Given the description of an element on the screen output the (x, y) to click on. 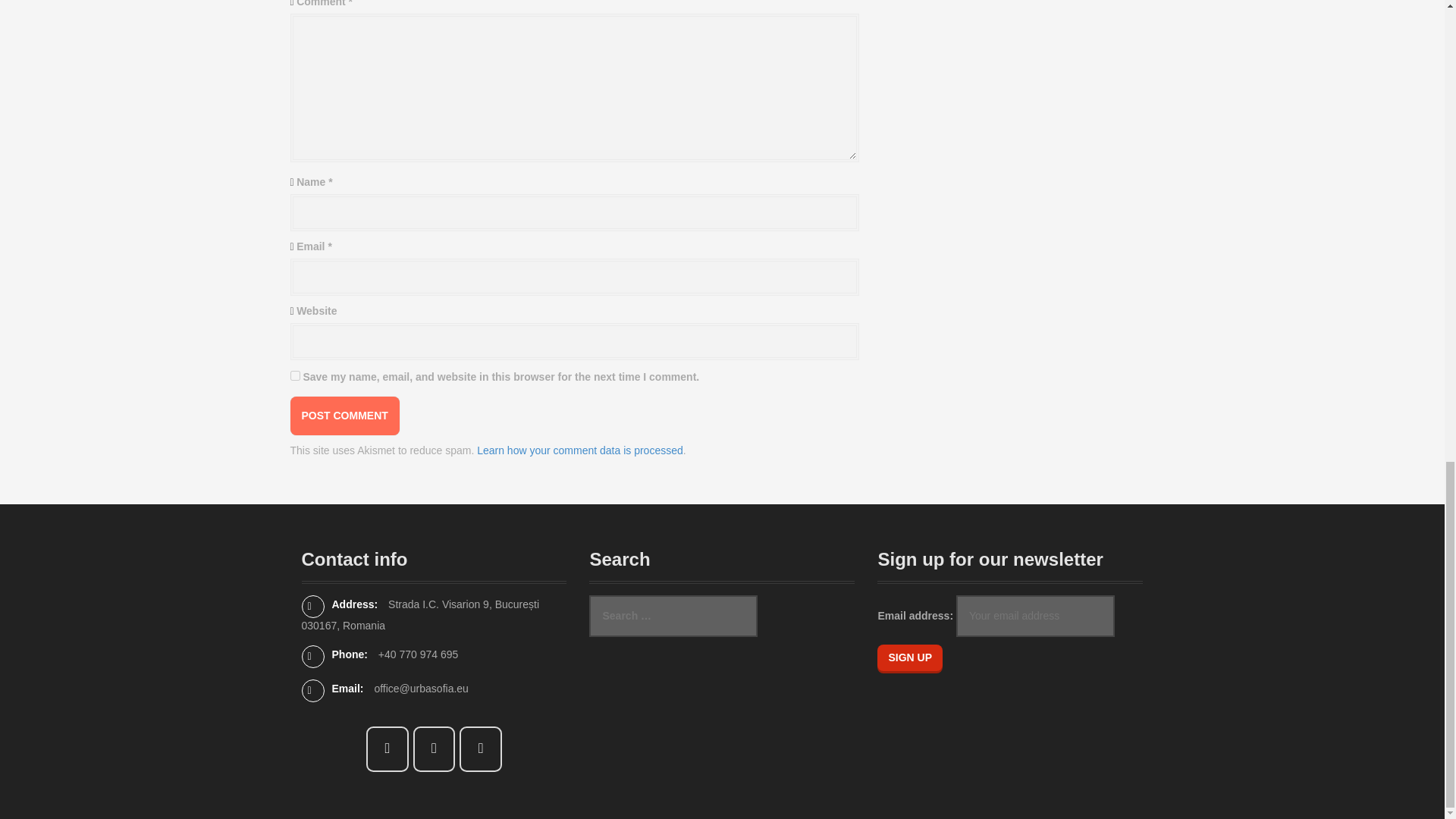
Sign up (909, 657)
Urbasofia on Facebook (387, 749)
Search for: (673, 616)
Post Comment (343, 415)
Urbasofia on Instagram (434, 749)
yes (294, 375)
Urbasofia on Linkedin (481, 749)
